Given the description of an element on the screen output the (x, y) to click on. 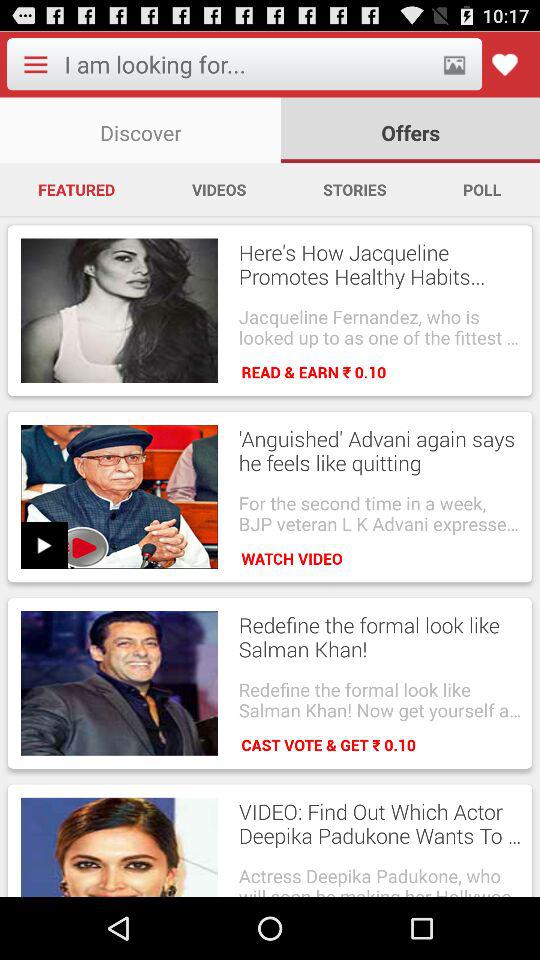
open discover app (140, 130)
